Given the description of an element on the screen output the (x, y) to click on. 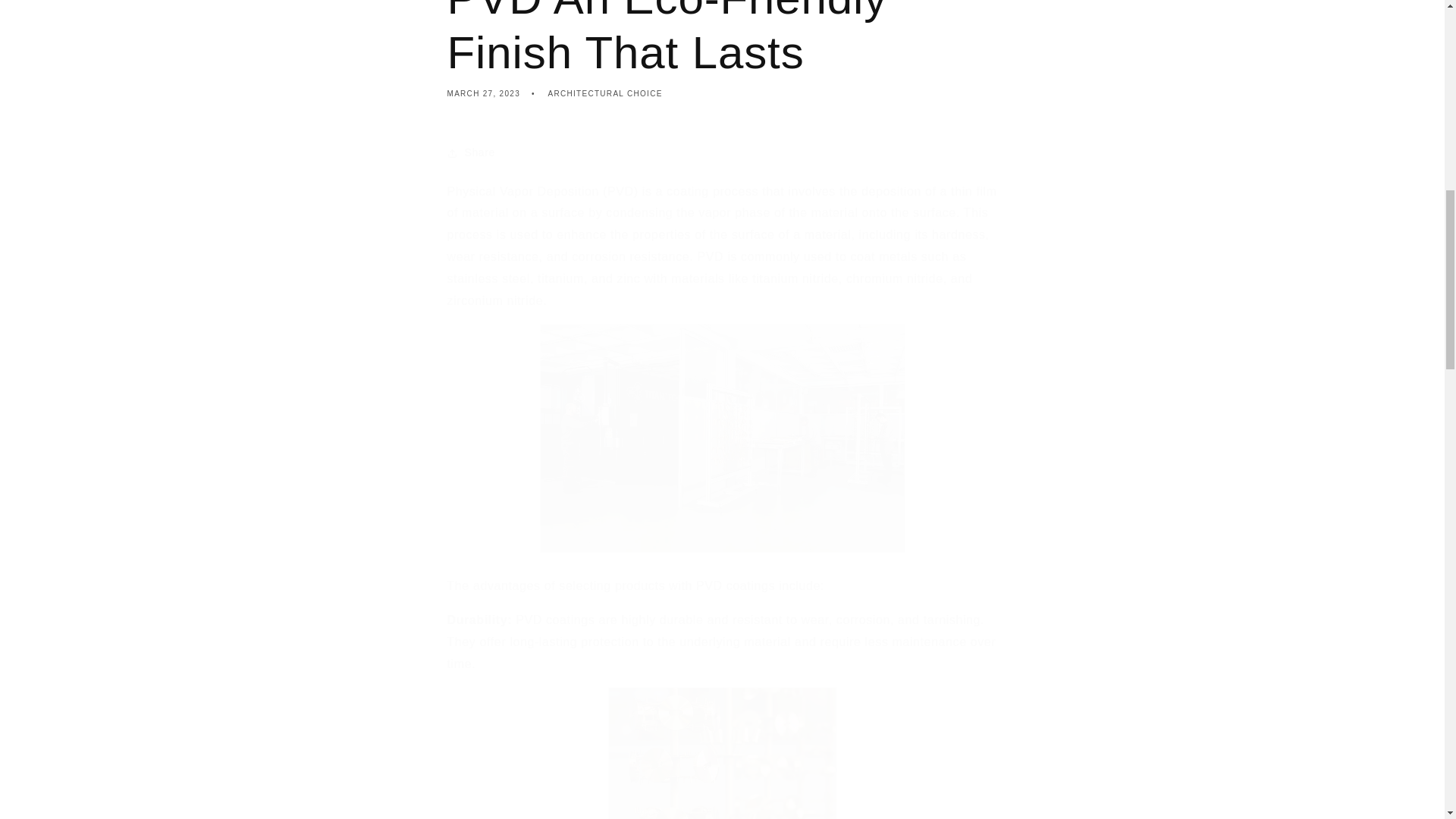
Share (721, 152)
